Given the description of an element on the screen output the (x, y) to click on. 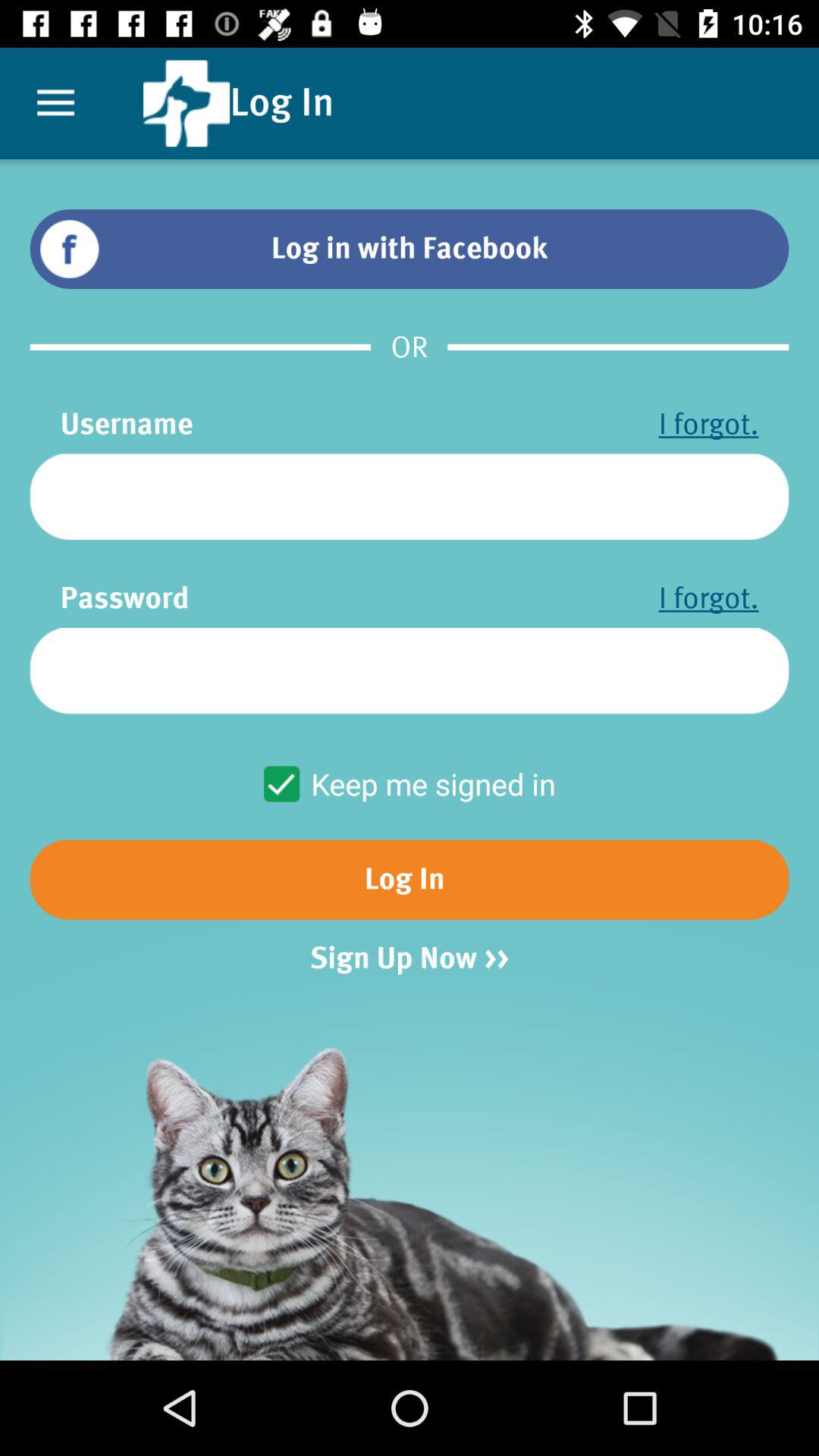
tap icon above keep me signed (409, 670)
